Given the description of an element on the screen output the (x, y) to click on. 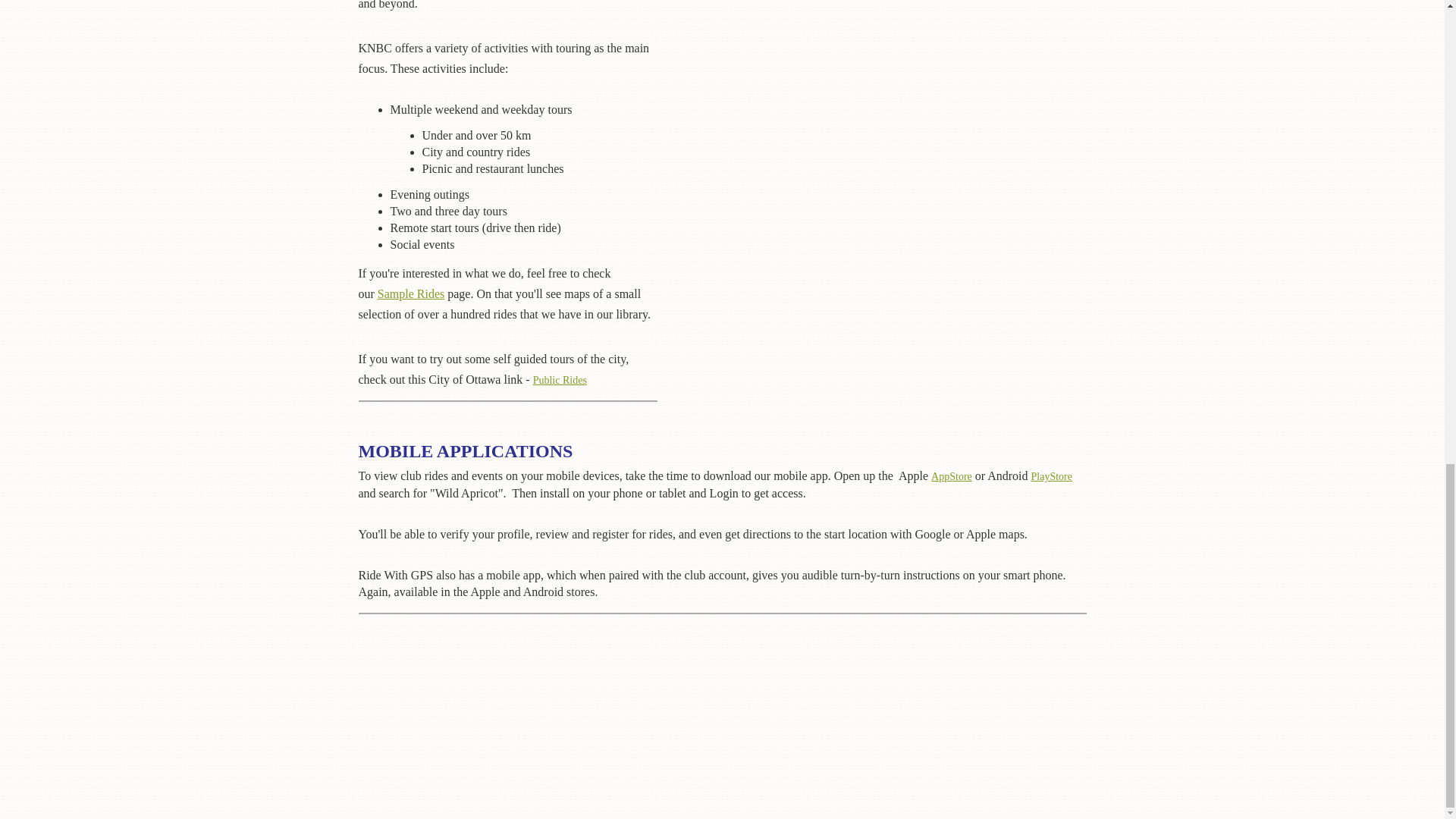
AppStore (951, 476)
Sample Rides (410, 294)
Public Rides (508, 388)
PlayStore (1050, 476)
